Given the description of an element on the screen output the (x, y) to click on. 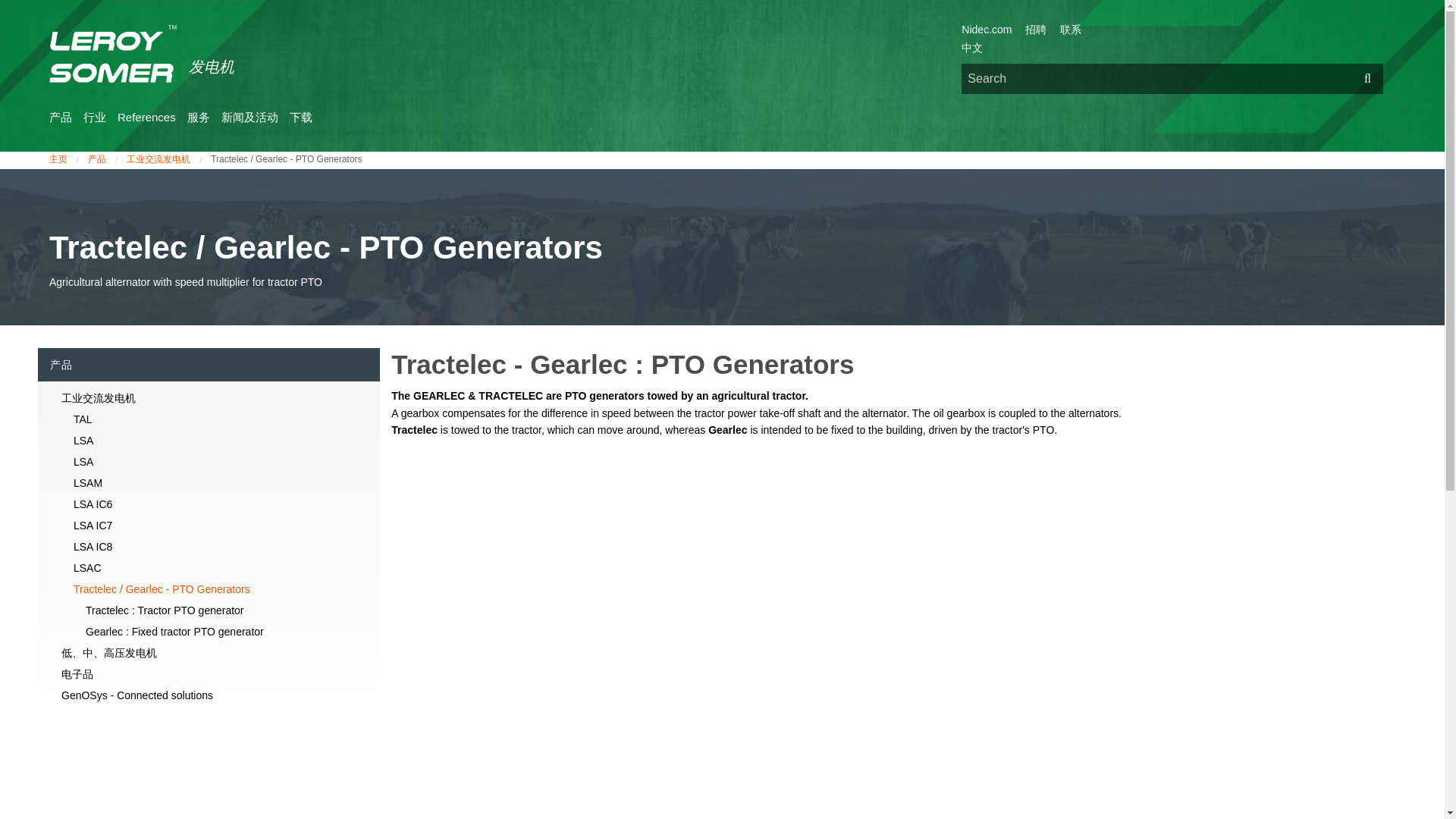
Leroy-Somer (112, 60)
